Given the description of an element on the screen output the (x, y) to click on. 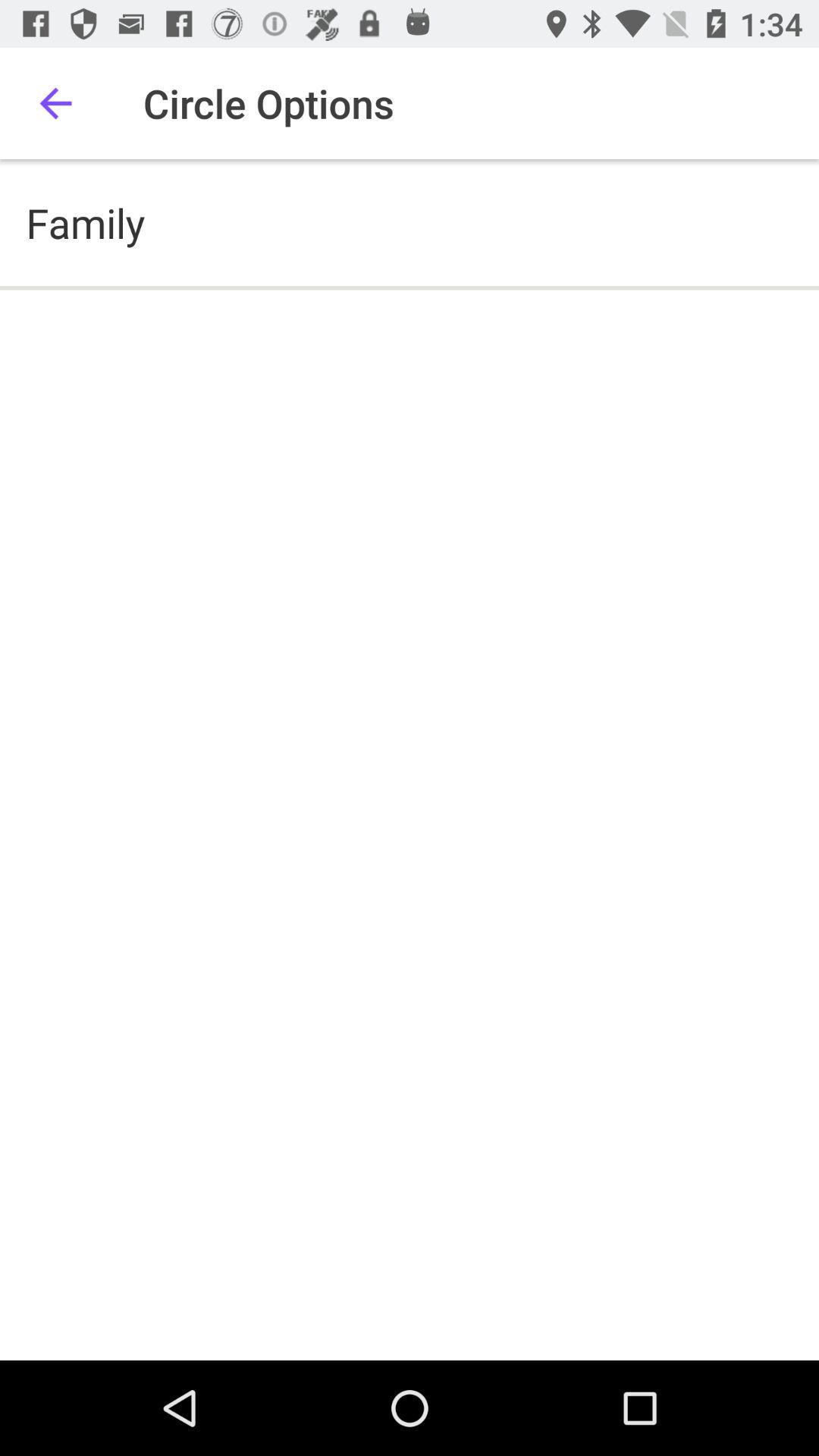
press item above the family (55, 103)
